Given the description of an element on the screen output the (x, y) to click on. 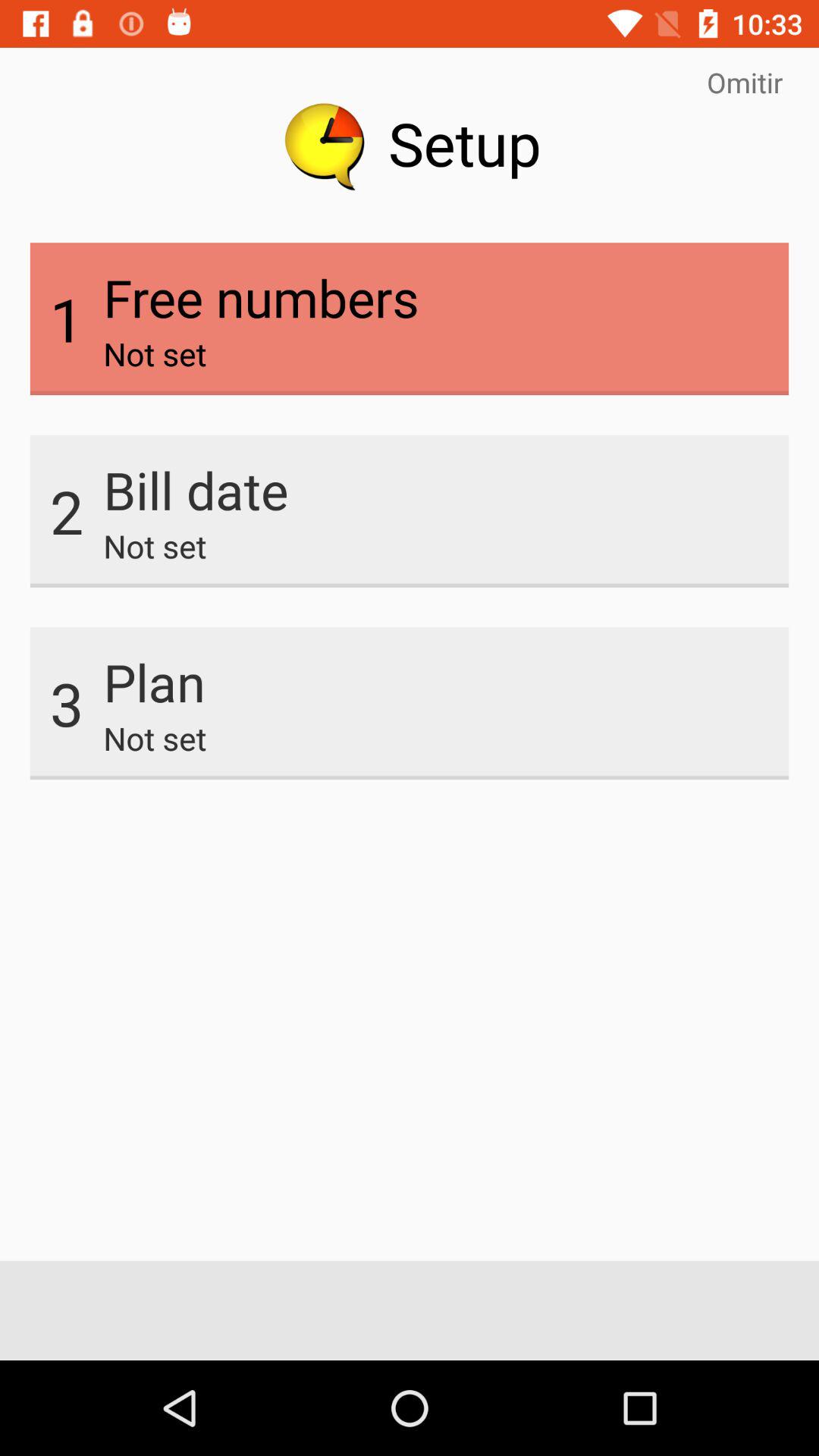
click the item at the top right corner (744, 82)
